Given the description of an element on the screen output the (x, y) to click on. 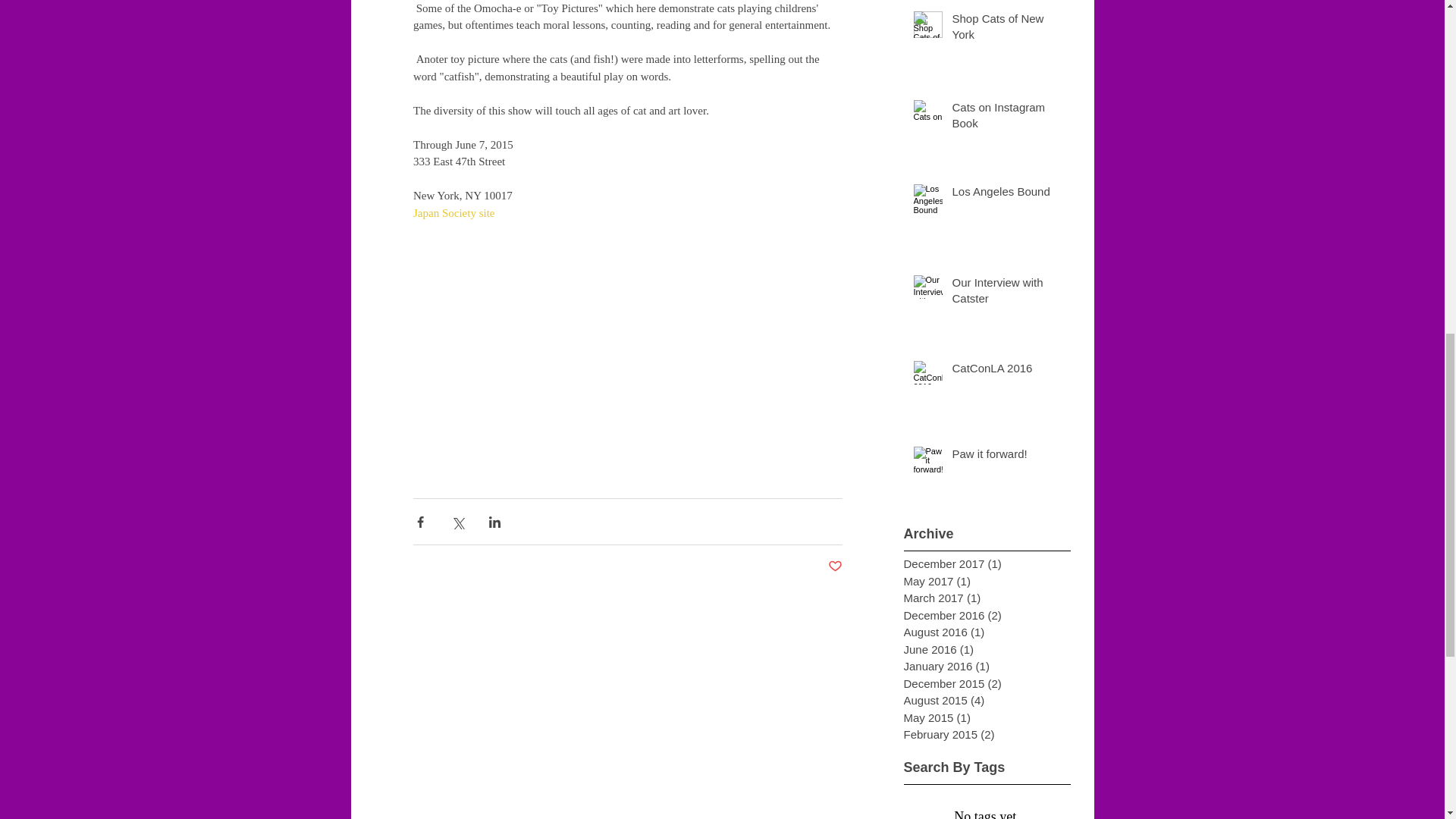
Post not marked as liked (835, 566)
Shop Cats of New York (1006, 29)
Paw it forward! (1006, 456)
Our Interview with Catster (1006, 293)
CatConLA 2016 (1006, 371)
Los Angeles Bound (1006, 194)
Japan Society site (452, 212)
Cats on Instagram Book (1006, 118)
